Given the description of an element on the screen output the (x, y) to click on. 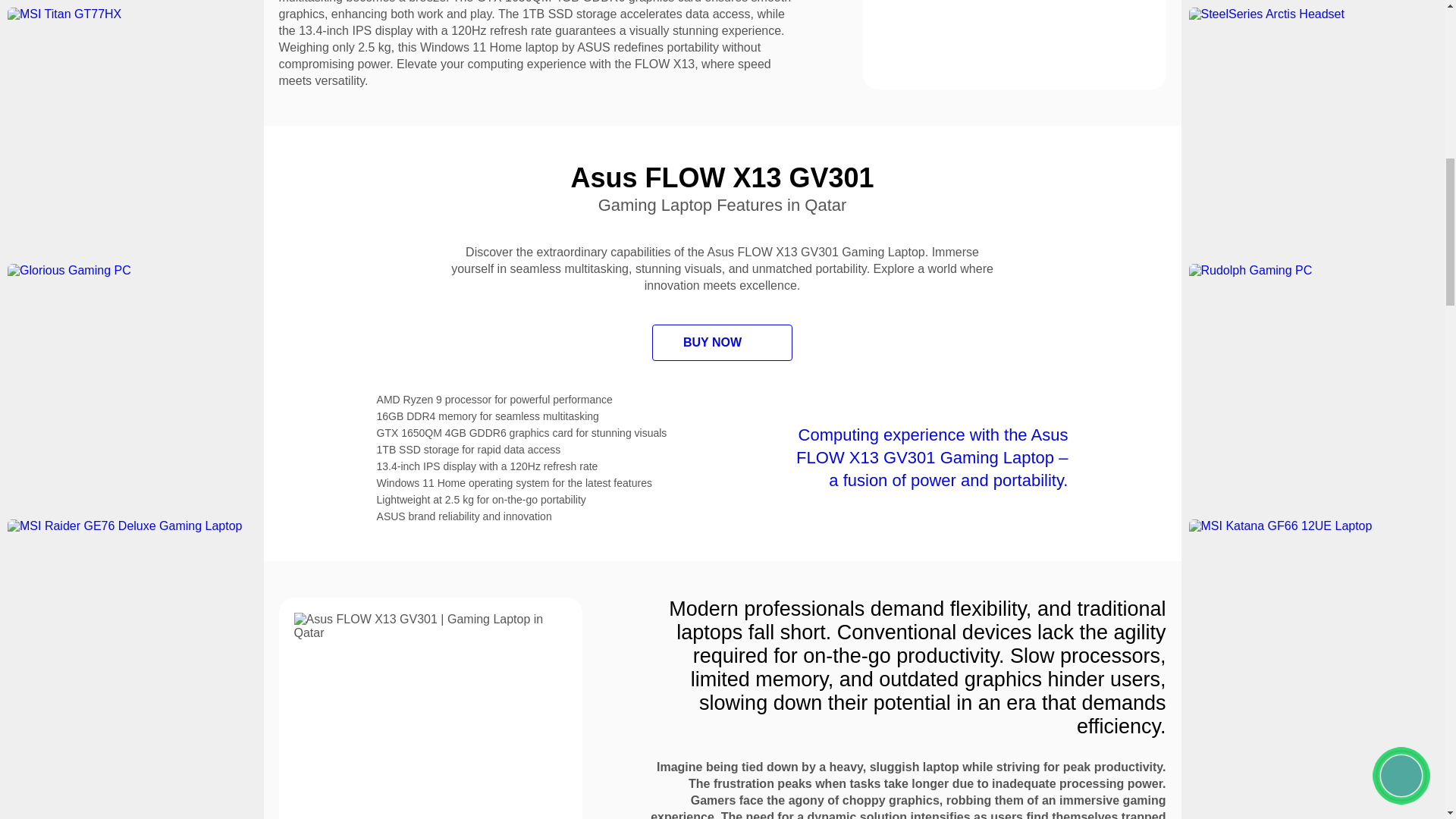
BUY NOW (722, 342)
